Given the description of an element on the screen output the (x, y) to click on. 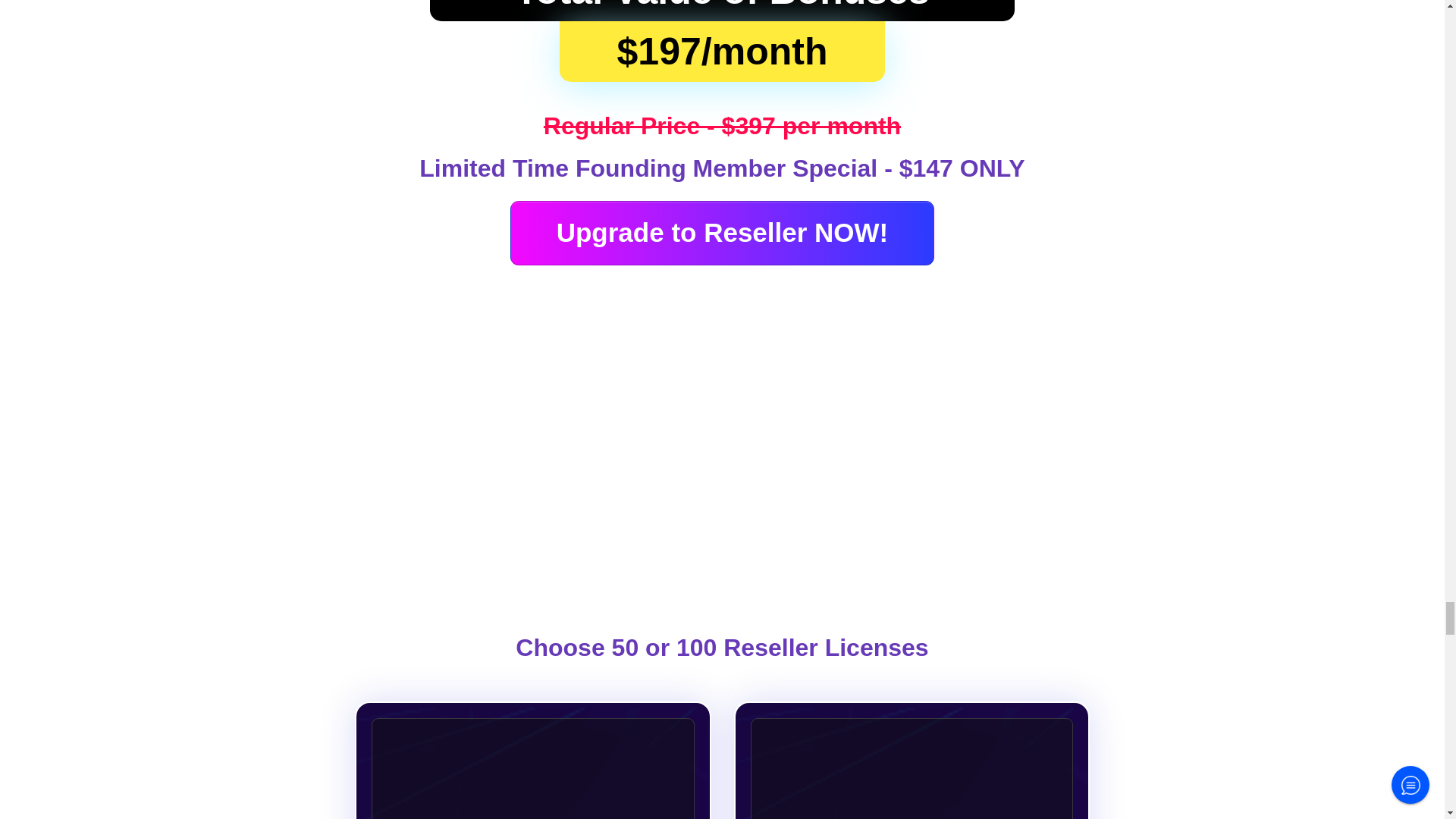
Upgrade to Reseller NOW! (722, 232)
